Given the description of an element on the screen output the (x, y) to click on. 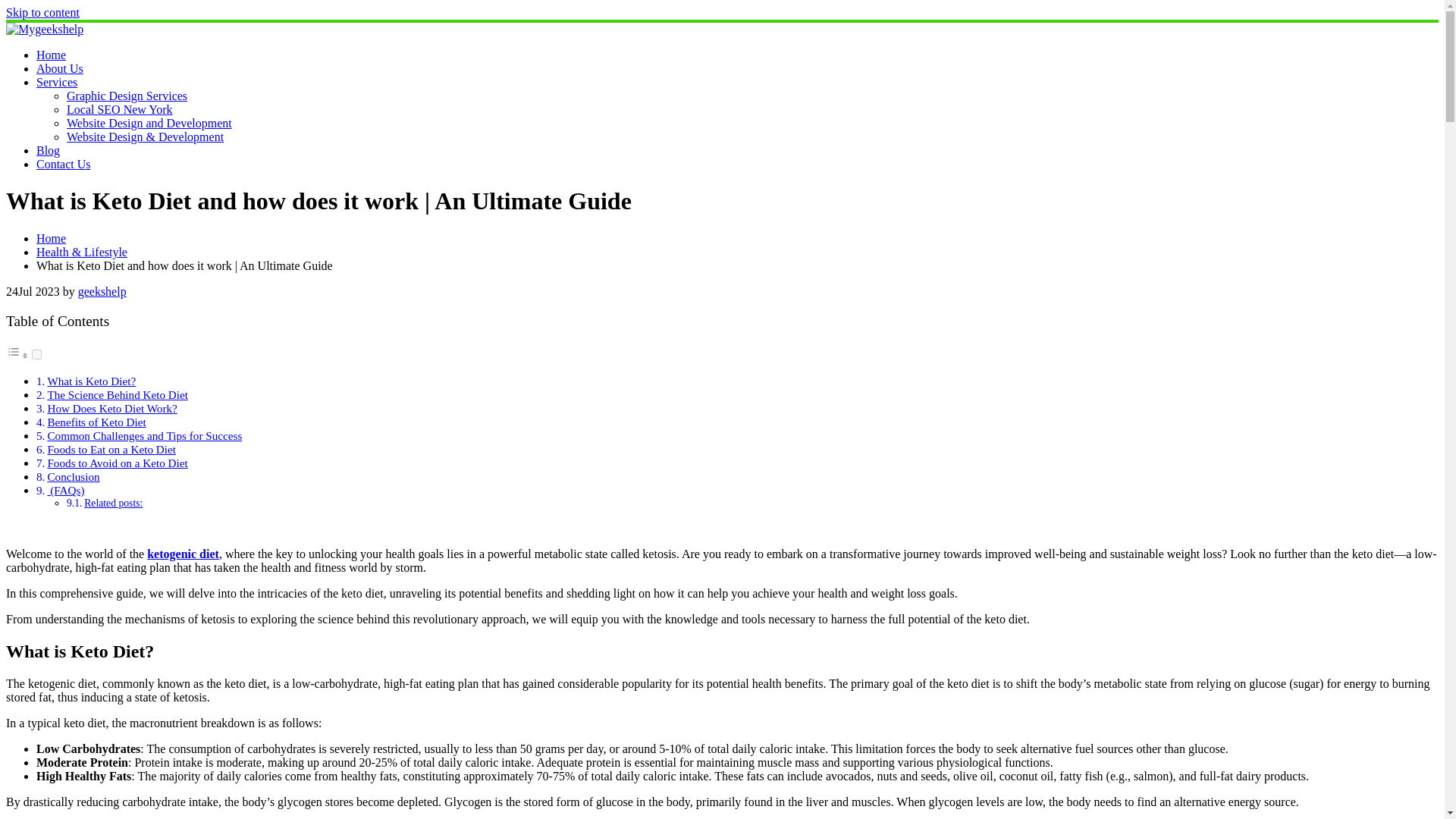
Benefits of Keto Diet (95, 421)
Foods to Eat on a Keto Diet (111, 449)
The Science Behind Keto Diet (116, 394)
Related posts: (113, 502)
Skip to content (42, 11)
Common Challenges and Tips for Success (143, 435)
ketogenic diet (183, 553)
geekshelp (102, 291)
Home (50, 237)
Conclusion (72, 476)
Contact Us (63, 164)
Website Design and Development (148, 123)
Local SEO New York (119, 109)
on (37, 354)
Services (56, 82)
